Given the description of an element on the screen output the (x, y) to click on. 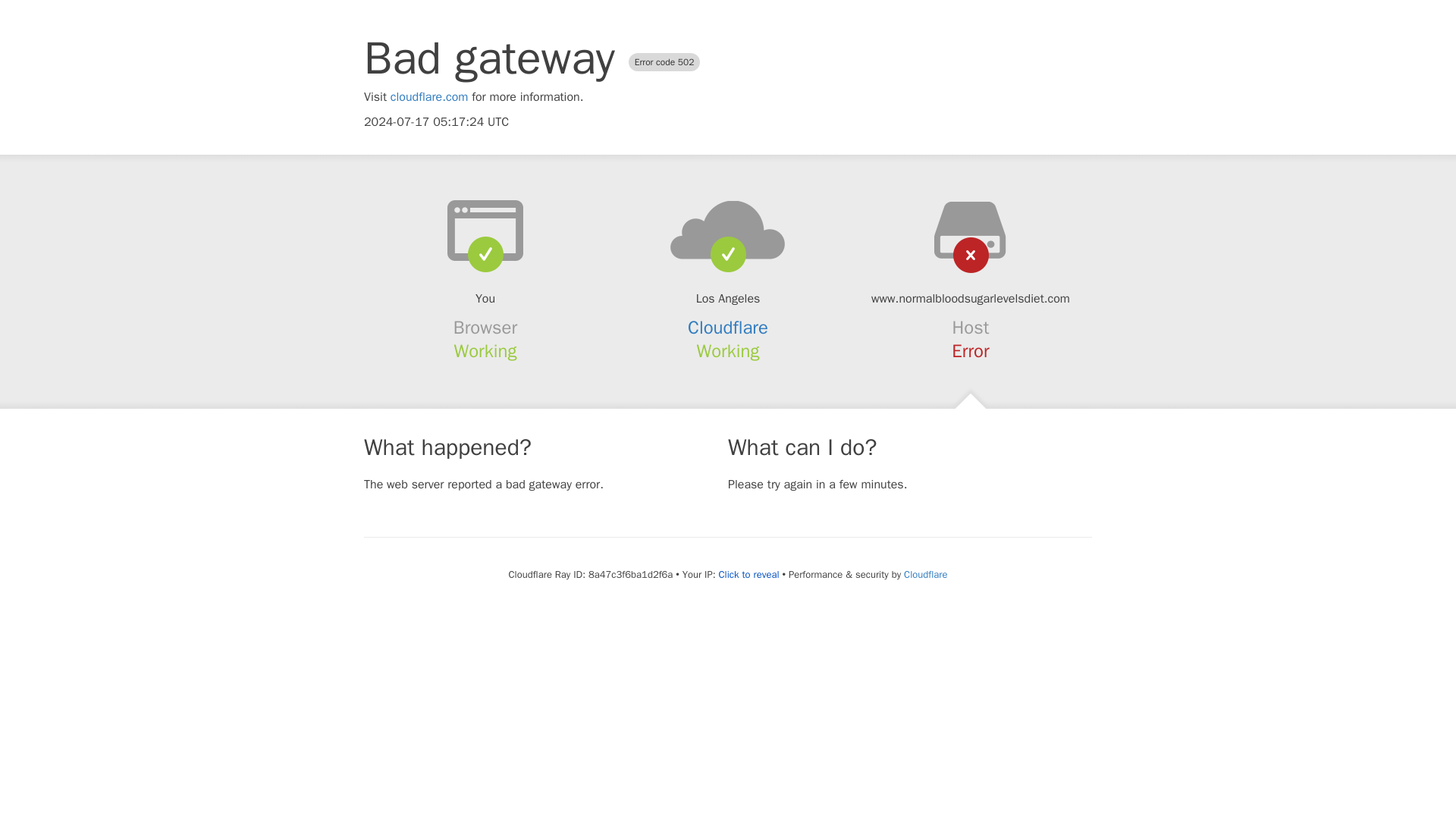
Click to reveal (748, 574)
cloudflare.com (429, 96)
Cloudflare (925, 574)
Cloudflare (727, 327)
